Given the description of an element on the screen output the (x, y) to click on. 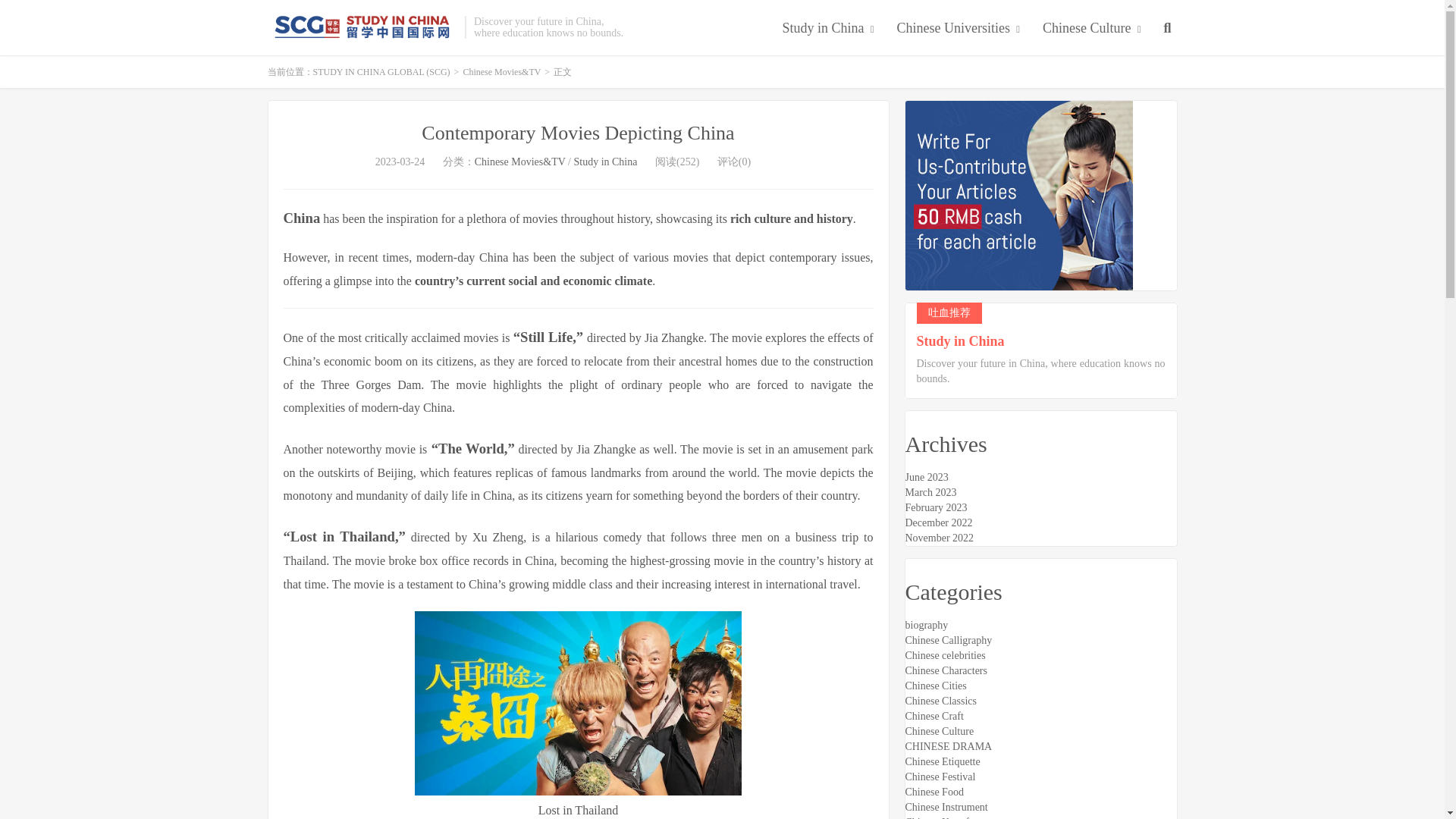
Chinese Culture (1091, 28)
Chinese Universities (958, 28)
Study in China (829, 28)
